Given the description of an element on the screen output the (x, y) to click on. 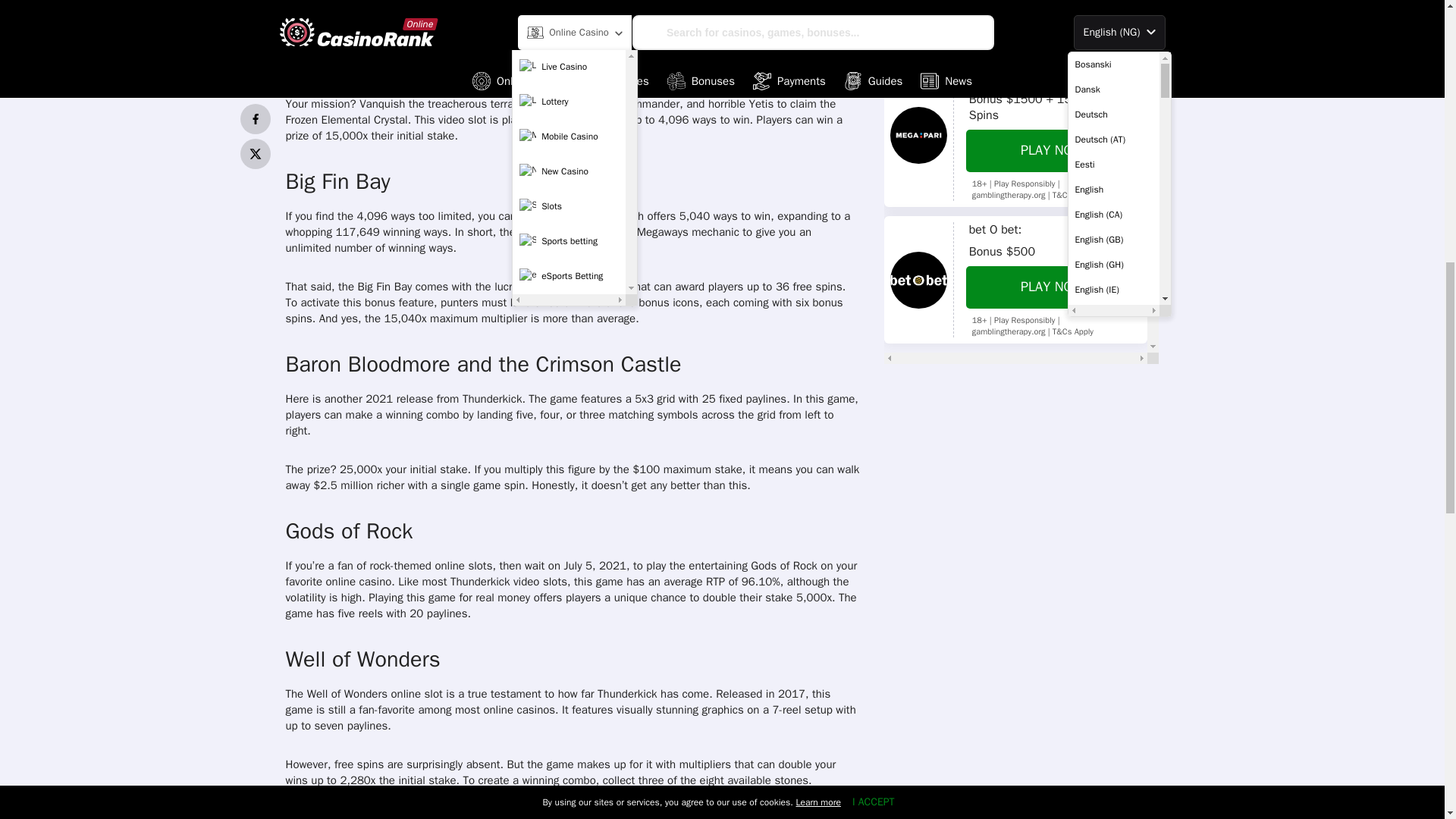
Hrvatski (1113, 4)
